Given the description of an element on the screen output the (x, y) to click on. 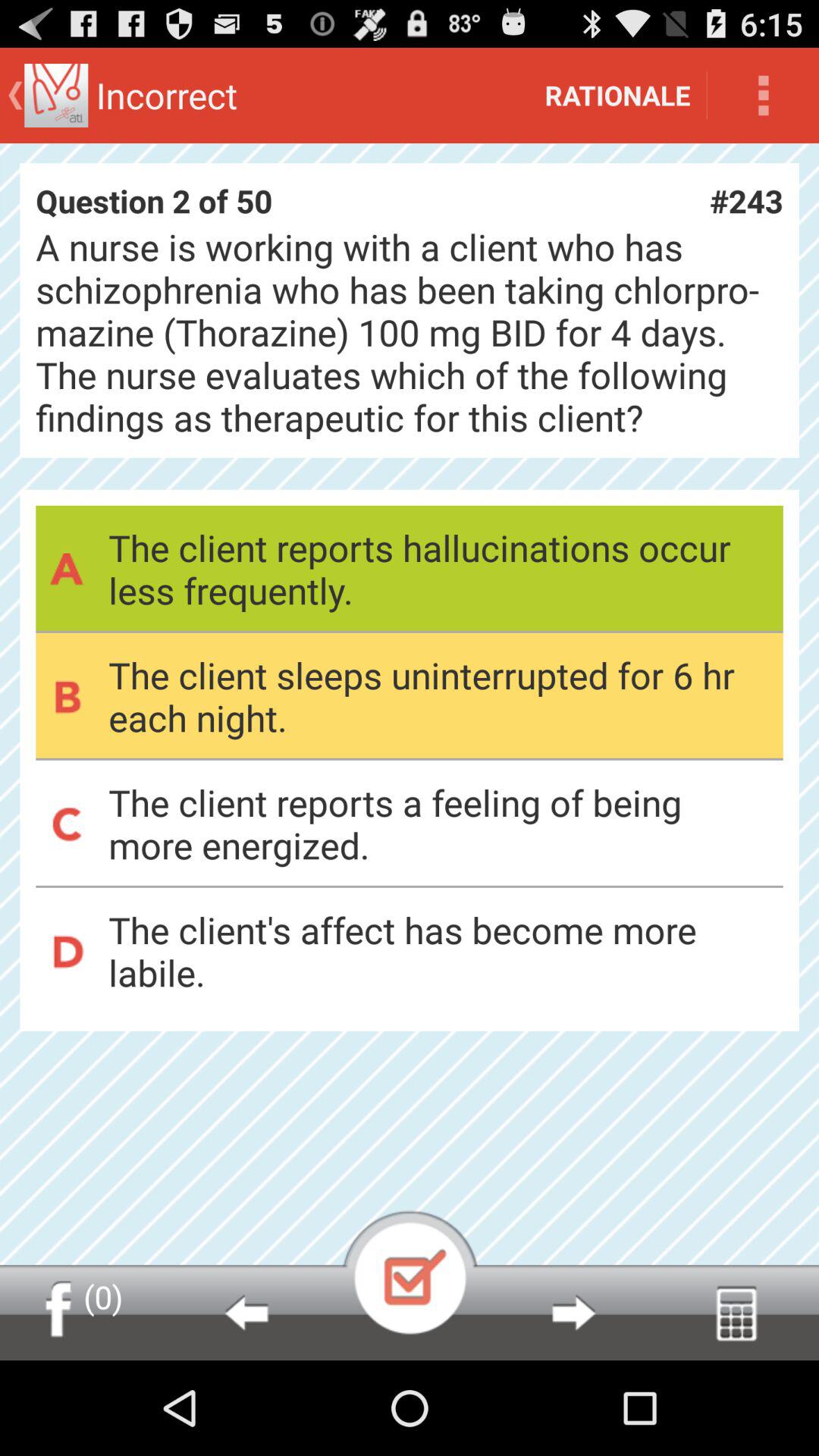
click on the last button at bottom right corner (736, 1312)
click on the icon in middle of back arrow and forward arrow (409, 1272)
click the forward button on the web page (573, 1312)
